Given the description of an element on the screen output the (x, y) to click on. 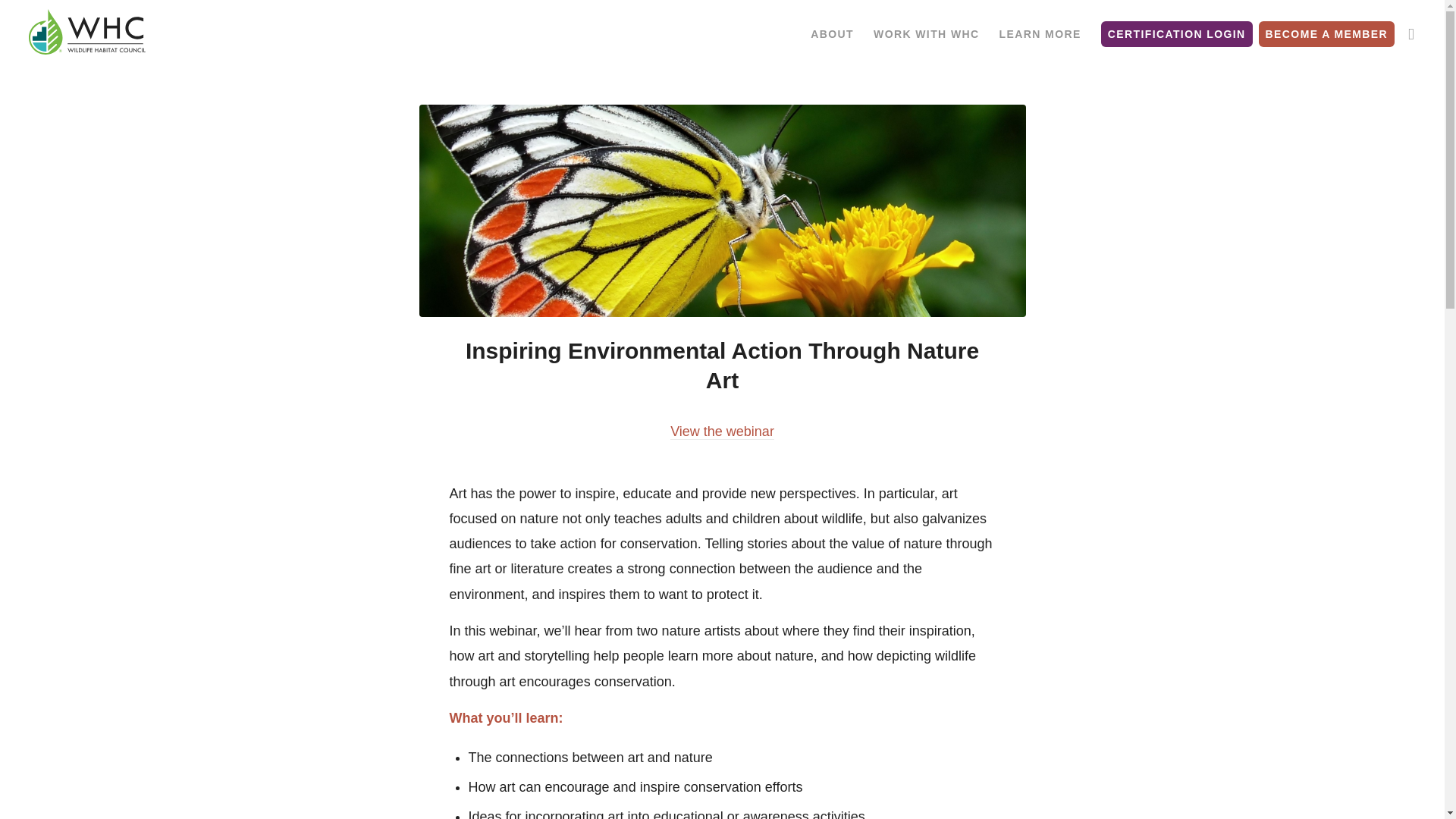
CERTIFICATION LOGIN (1178, 33)
BECOME A MEMBER (1334, 33)
whc-logo-color (87, 31)
butterfly-85628 (722, 210)
WORK WITH WHC (926, 33)
ABOUT (831, 33)
LEARN MORE (1040, 33)
whc-logo-color (87, 33)
